Given the description of an element on the screen output the (x, y) to click on. 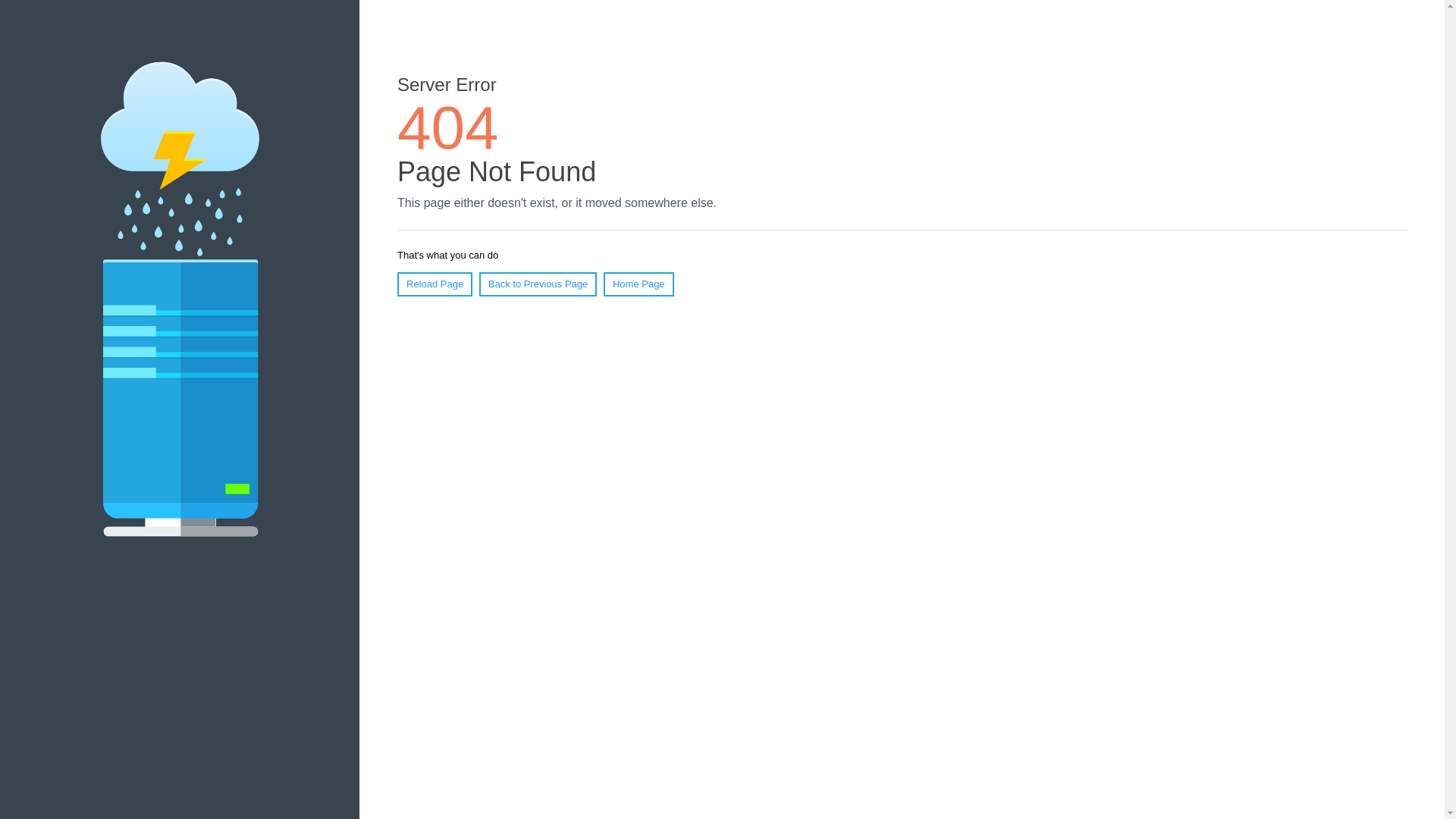
Home Page Element type: text (638, 284)
Reload Page Element type: text (434, 284)
Back to Previous Page Element type: text (538, 284)
